Given the description of an element on the screen output the (x, y) to click on. 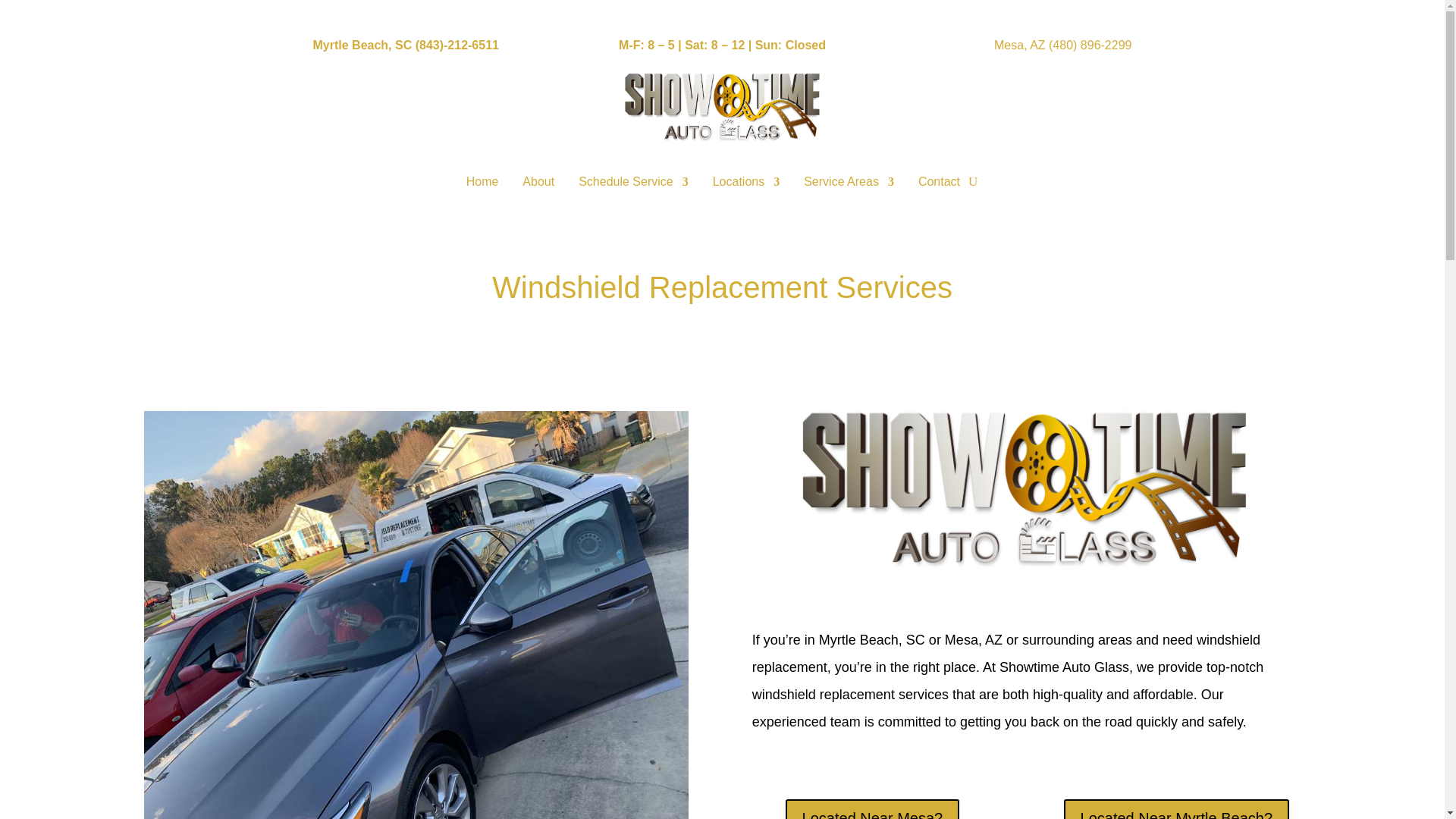
Located Near Myrtle Beach? (1176, 809)
Locations (746, 181)
Service Areas (848, 181)
Schedule Service (633, 181)
ShowTime Auto Glass Logo (1024, 486)
Located Near Mesa? (872, 809)
